Given the description of an element on the screen output the (x, y) to click on. 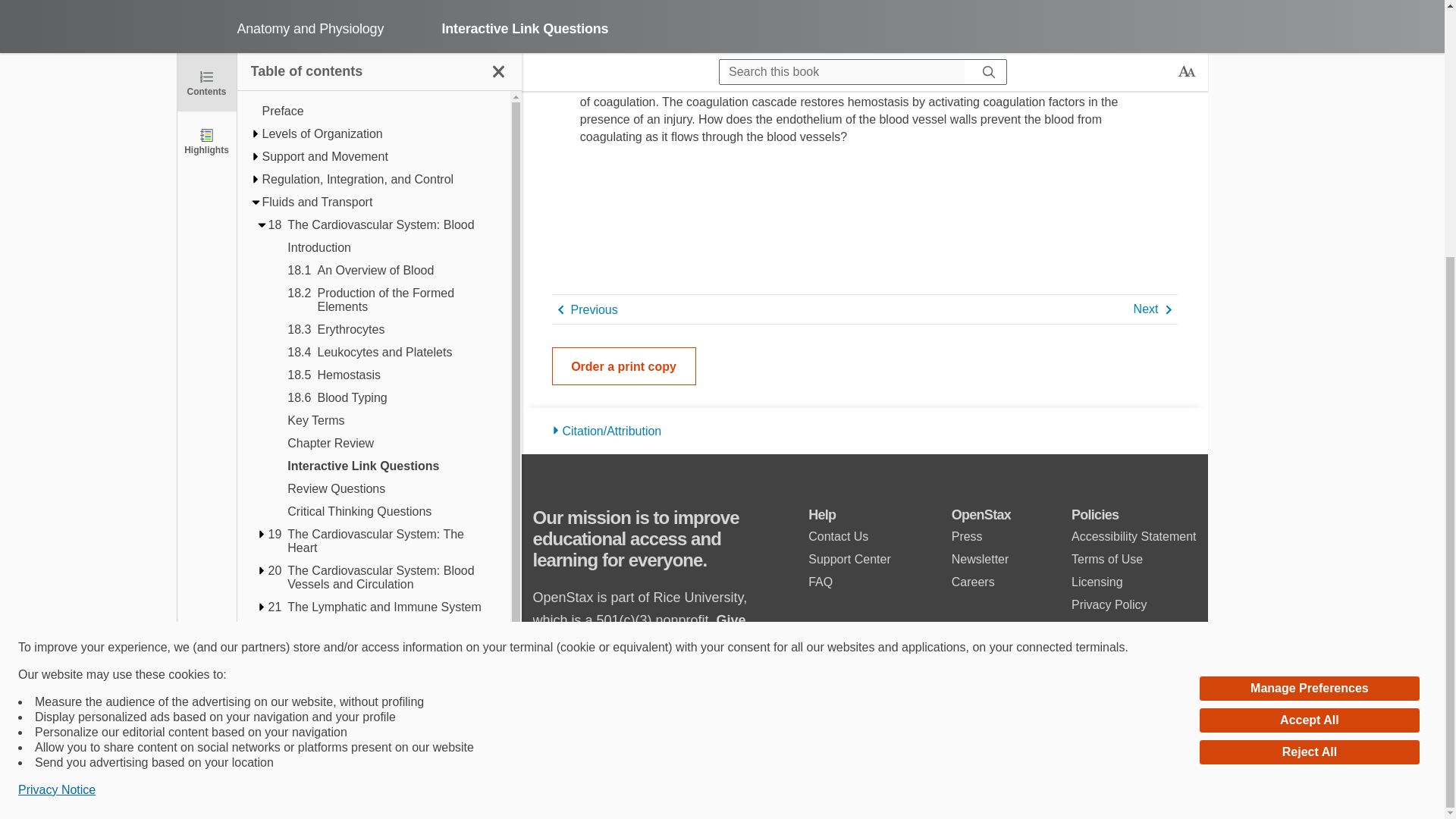
Privacy Notice (56, 425)
Manage Preferences (1309, 323)
Accept All (1309, 355)
Reject All (1309, 387)
